Given the description of an element on the screen output the (x, y) to click on. 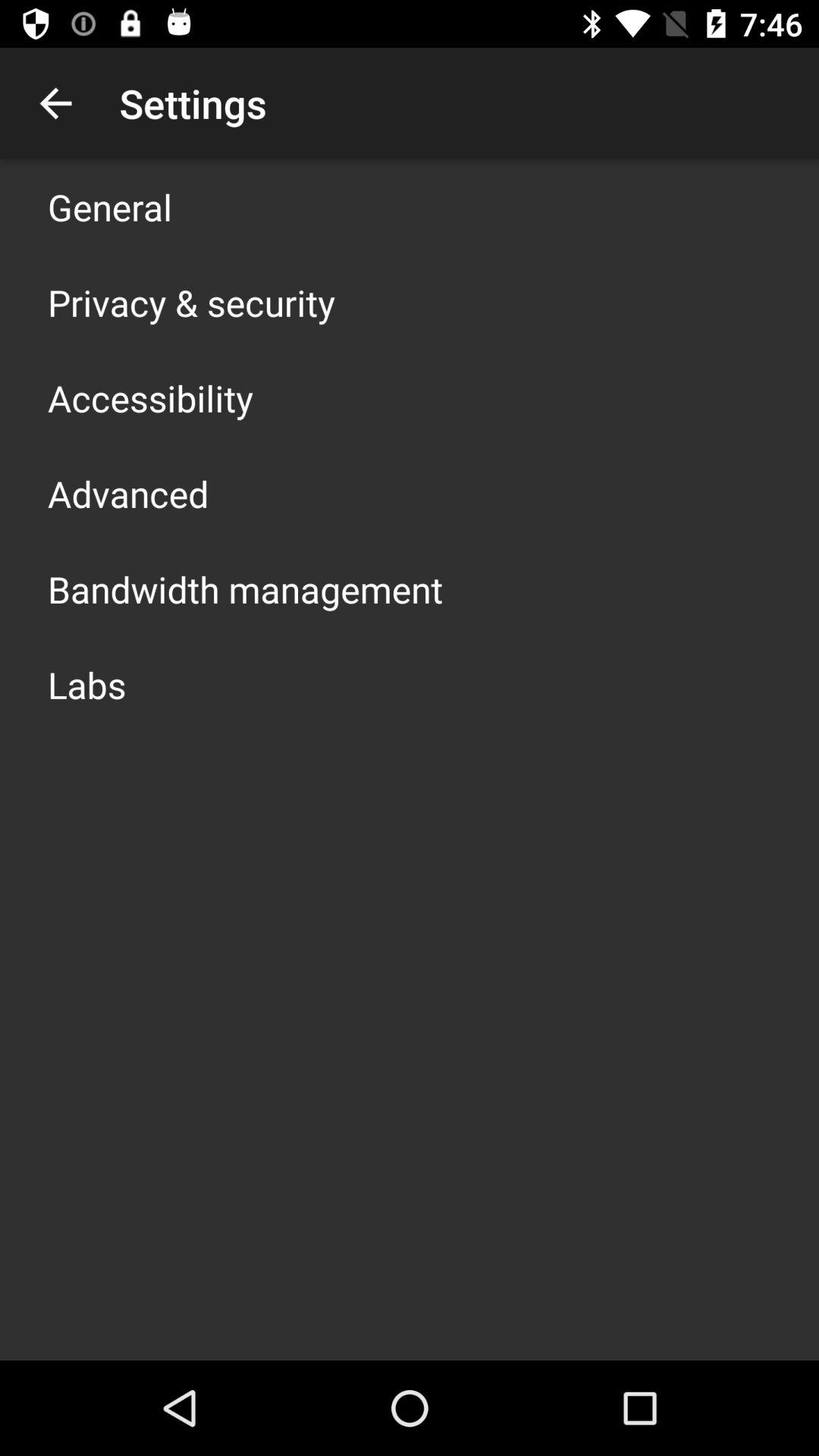
launch the icon below advanced app (245, 588)
